Given the description of an element on the screen output the (x, y) to click on. 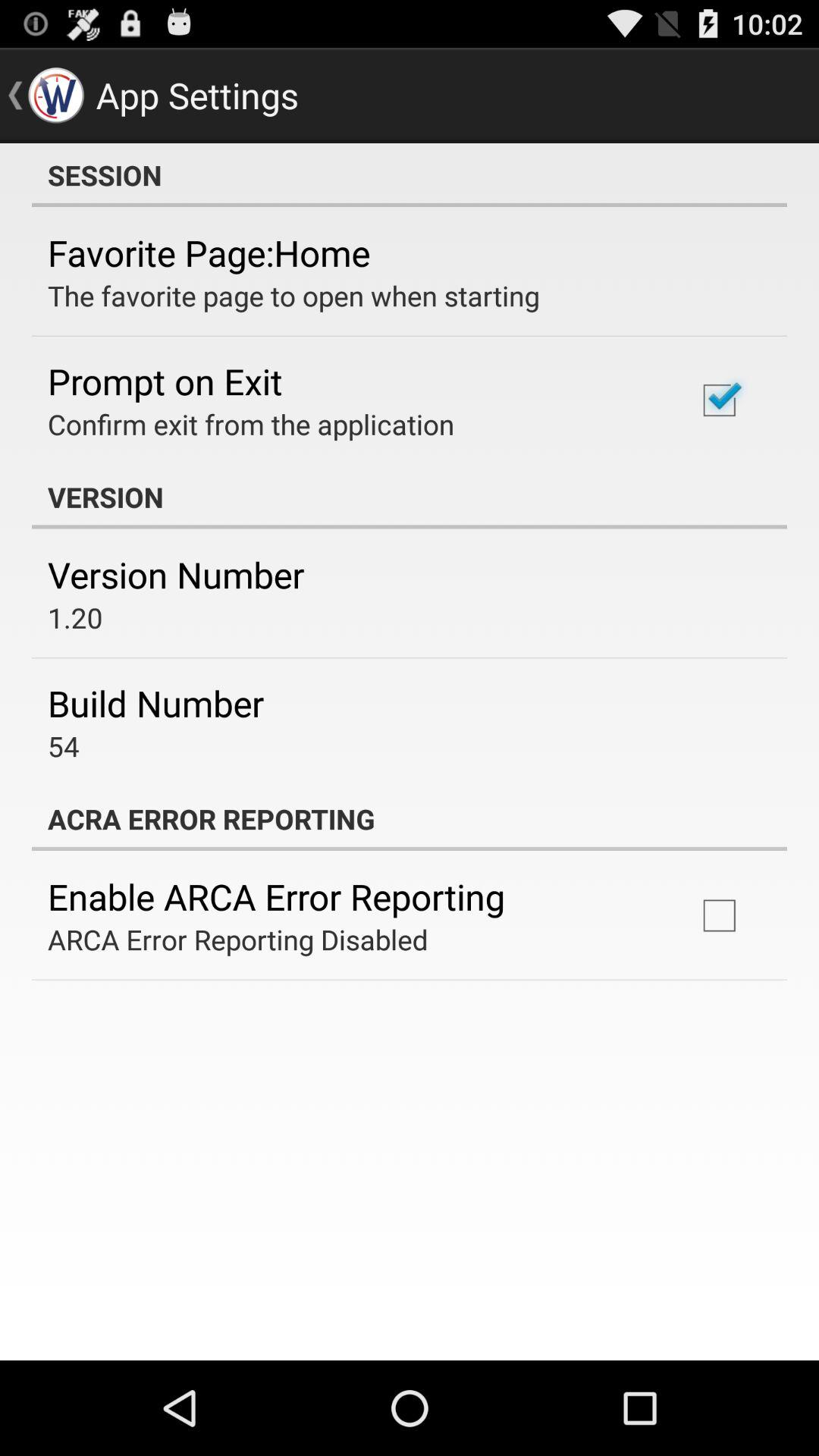
flip until 54 icon (63, 745)
